Given the description of an element on the screen output the (x, y) to click on. 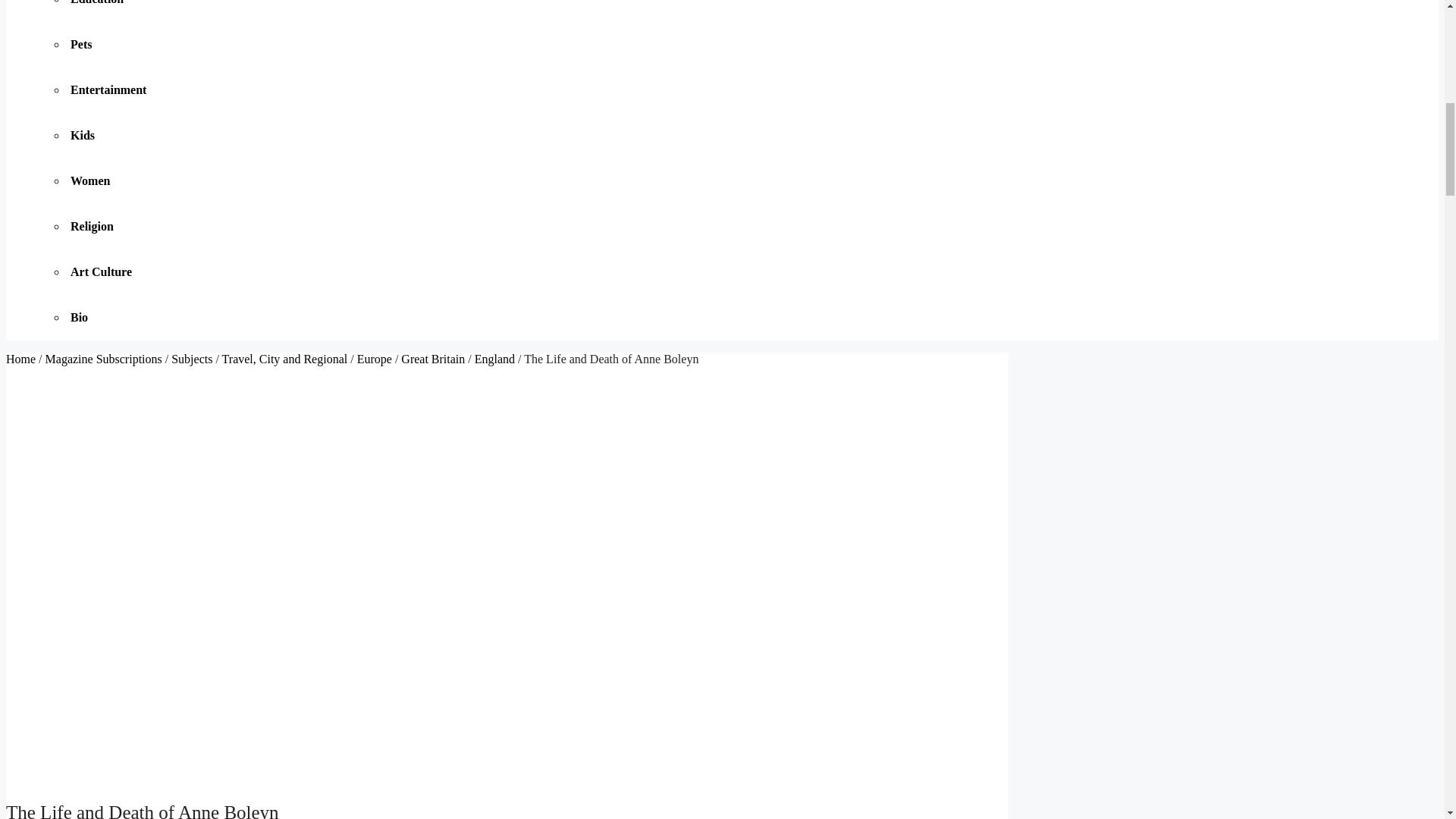
Scroll back to top (1406, 720)
Bio (81, 317)
Pets (82, 43)
Entertainment (110, 89)
Magazine Subscriptions (103, 358)
Education (98, 2)
Religion (93, 226)
Subjects (191, 358)
Art Culture (102, 271)
Home (19, 358)
Kids (83, 134)
Women (91, 180)
